Given the description of an element on the screen output the (x, y) to click on. 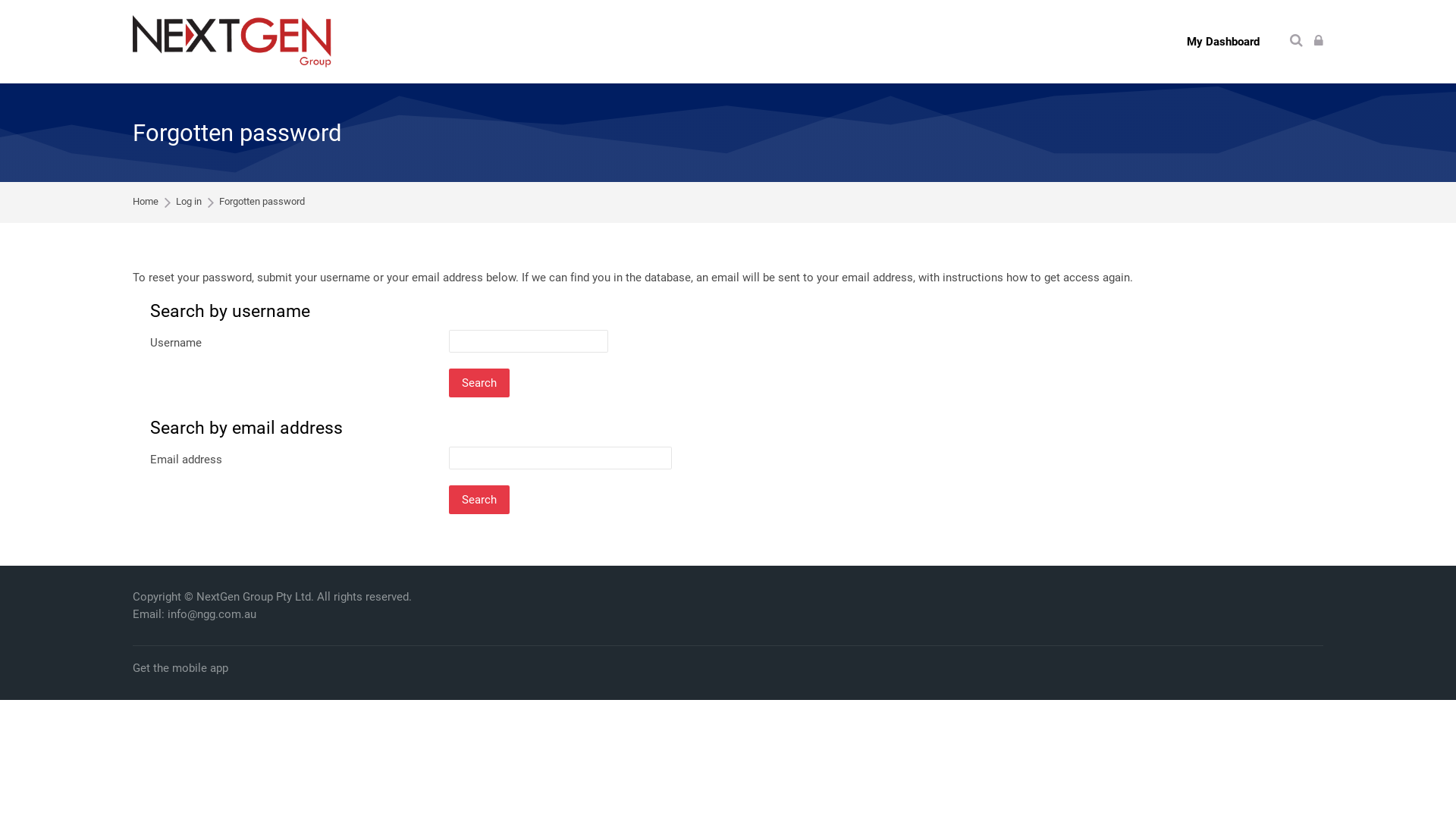
Log in Element type: hover (1318, 41)
Home Element type: text (145, 202)
My Dashboard Element type: text (1222, 41)
Search Element type: text (478, 499)
Get the mobile app Element type: text (180, 668)
Search Element type: text (478, 382)
Search Element type: hover (1295, 41)
Learning Portal Element type: hover (231, 41)
Log in Element type: text (188, 202)
